Given the description of an element on the screen output the (x, y) to click on. 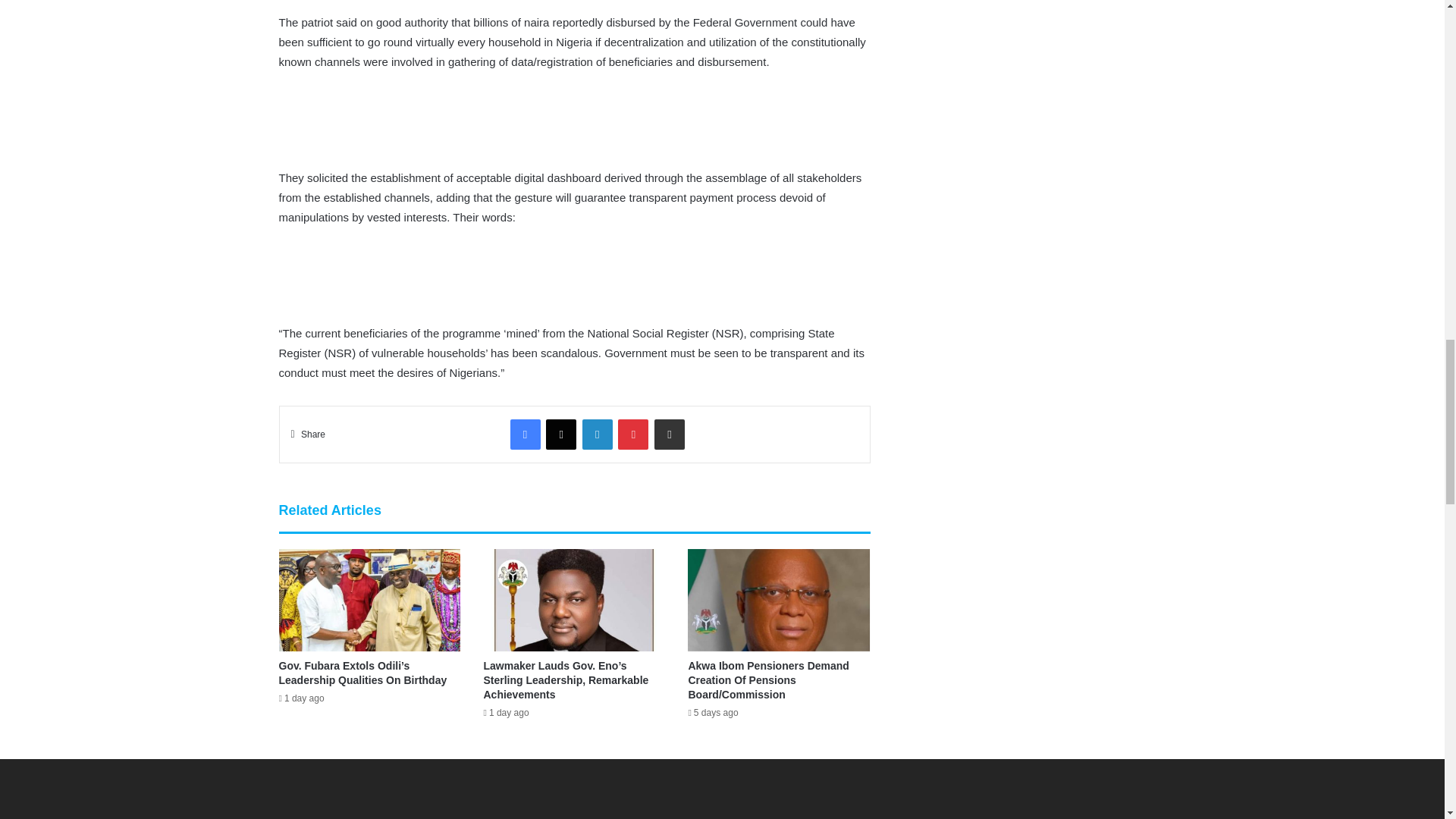
Pinterest (632, 434)
X (561, 434)
X (561, 434)
Facebook (524, 434)
LinkedIn (597, 434)
Pinterest (632, 434)
Facebook (524, 434)
Share via Email (668, 434)
LinkedIn (597, 434)
Share via Email (668, 434)
